Given the description of an element on the screen output the (x, y) to click on. 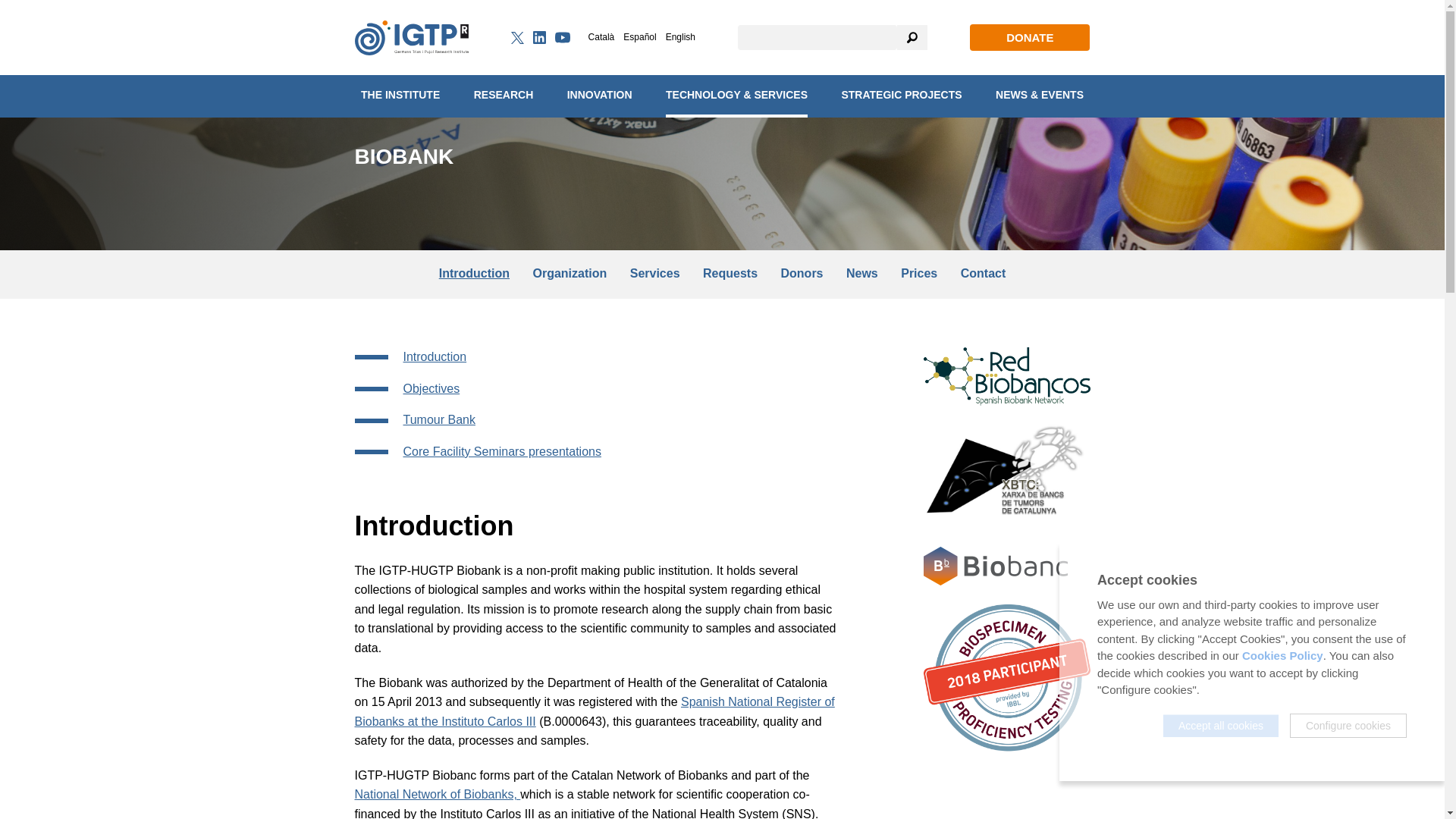
Search (911, 37)
Type here (817, 37)
DONATE (1029, 37)
English version (680, 36)
English (680, 36)
